Given the description of an element on the screen output the (x, y) to click on. 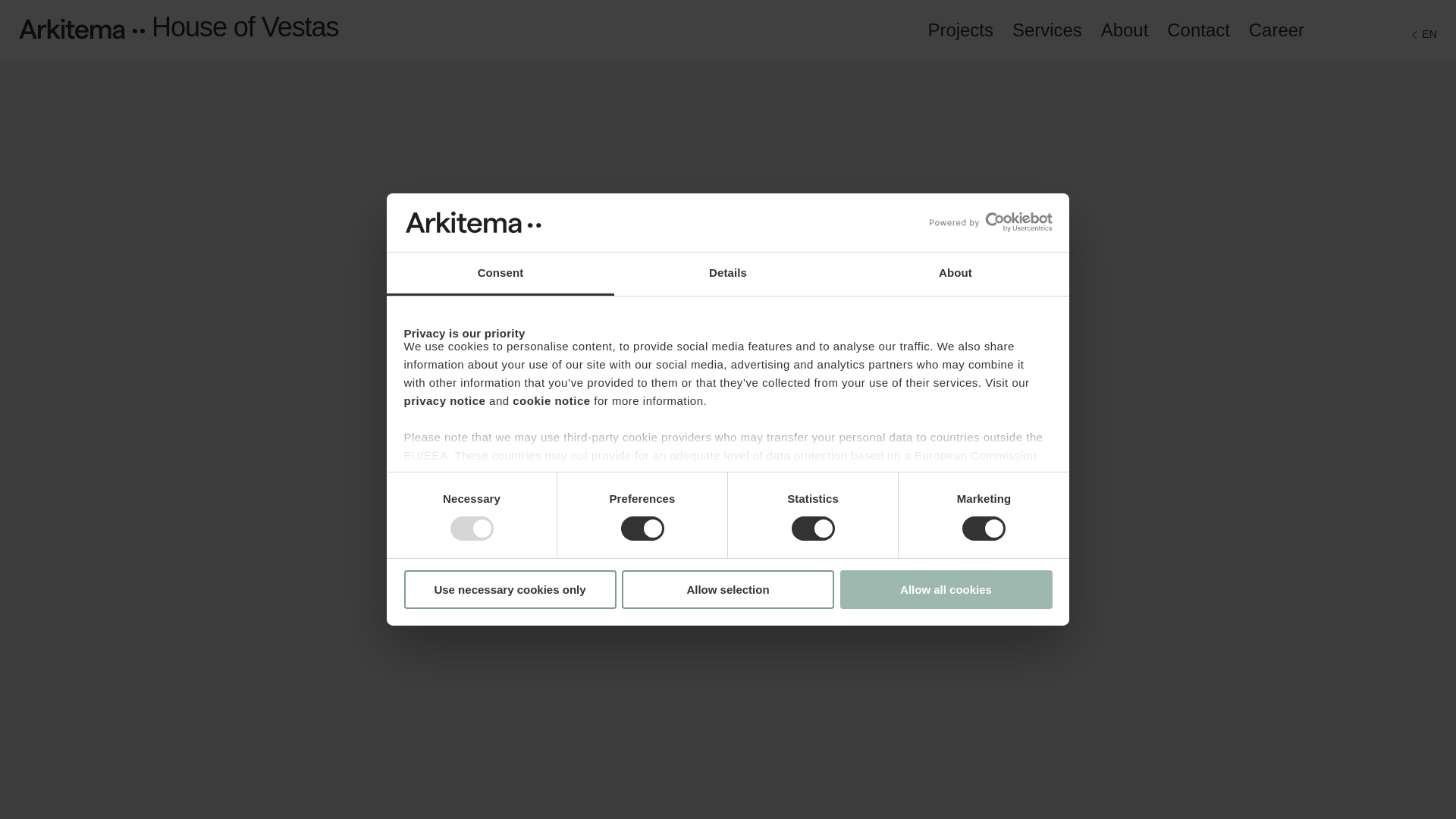
Consent (500, 273)
About (954, 273)
Allow all cookies (946, 589)
Projects (959, 29)
cookie notice (550, 400)
Arkitema (71, 28)
Details (727, 273)
Allow selection (727, 589)
privacy notice (443, 400)
Use necessary cookies only (509, 589)
